Given the description of an element on the screen output the (x, y) to click on. 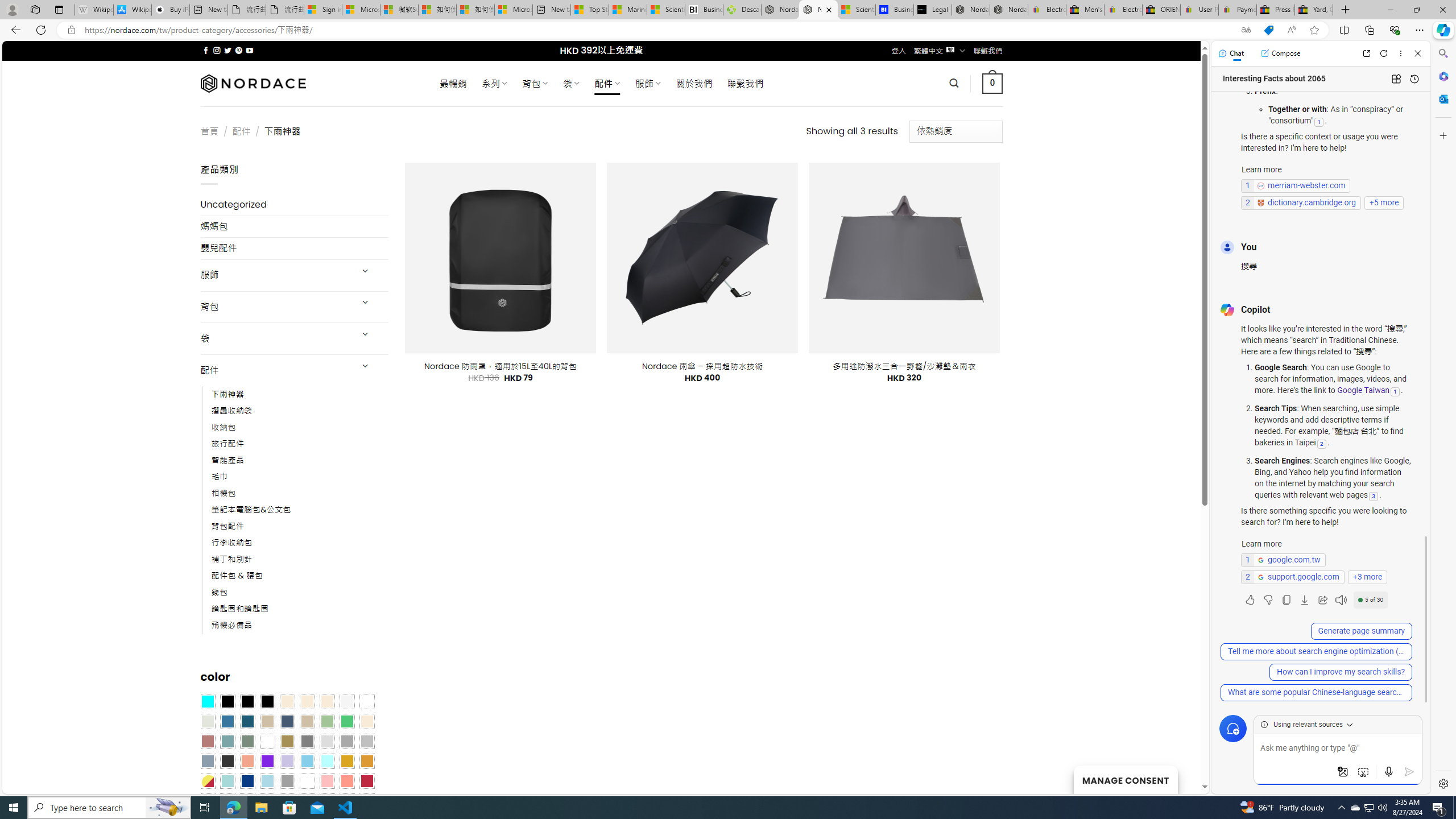
MANAGE CONSENT (1125, 779)
